Given the description of an element on the screen output the (x, y) to click on. 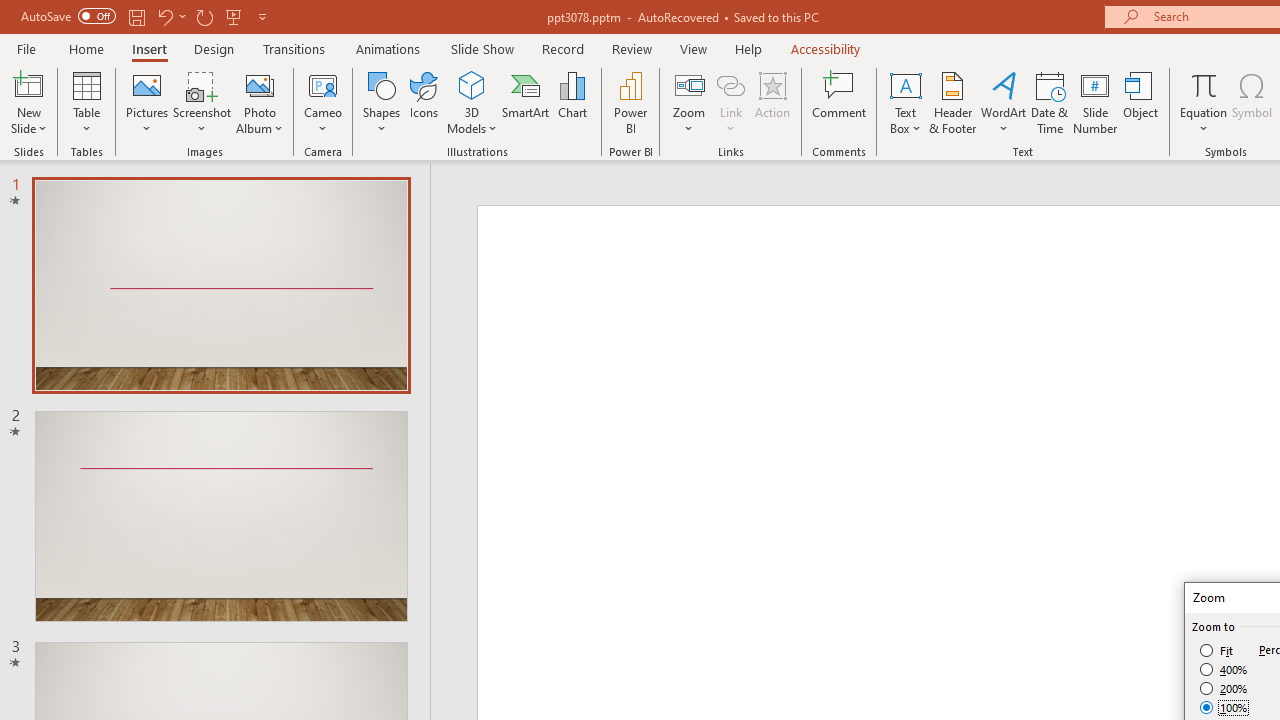
Icons (424, 102)
Photo Album... (259, 102)
Date & Time... (1050, 102)
100% (1224, 707)
Table (86, 102)
